Given the description of an element on the screen output the (x, y) to click on. 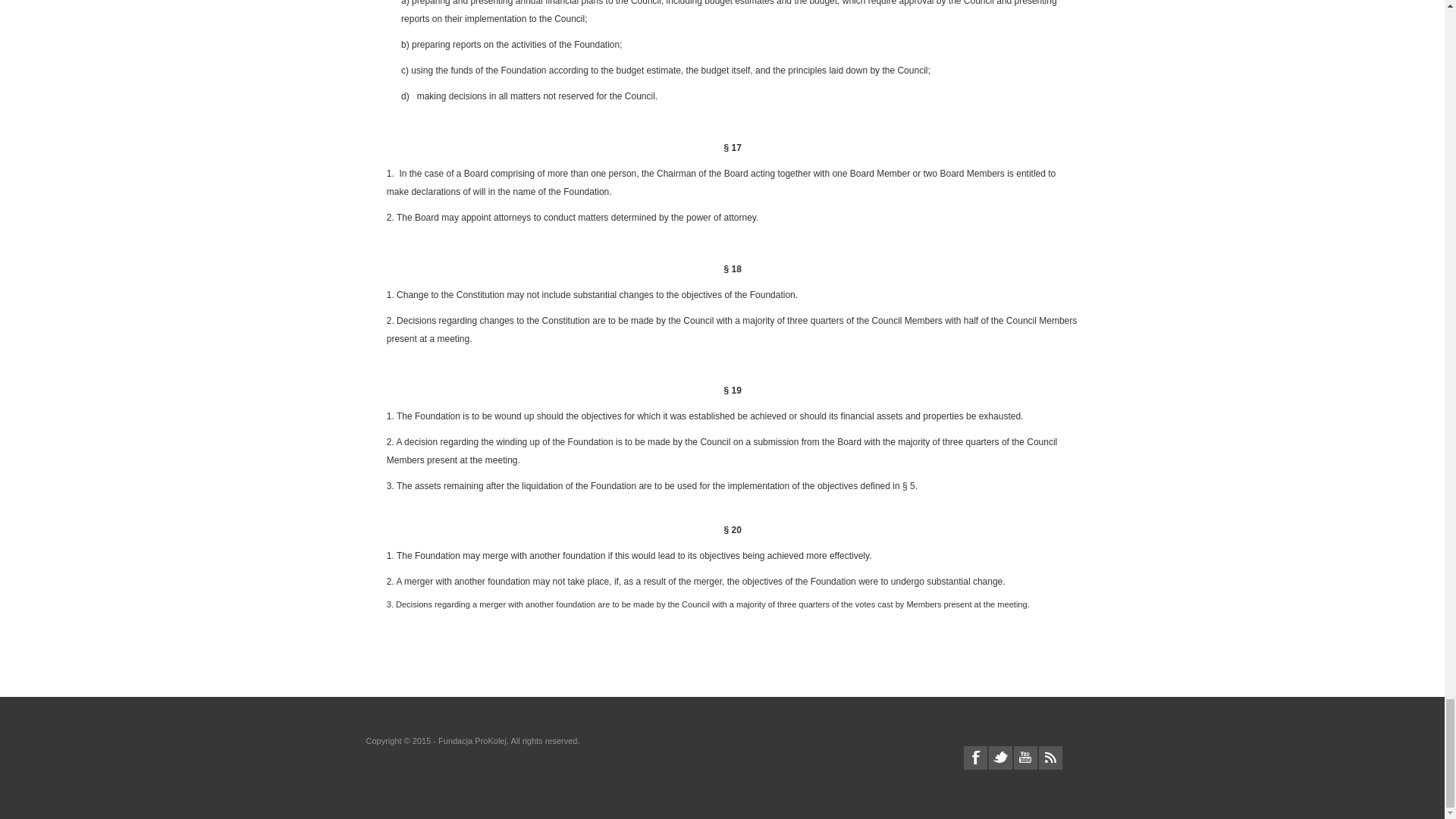
Twitter (999, 757)
Youtube (1024, 757)
Rss (1050, 757)
Facebook (974, 757)
